Given the description of an element on the screen output the (x, y) to click on. 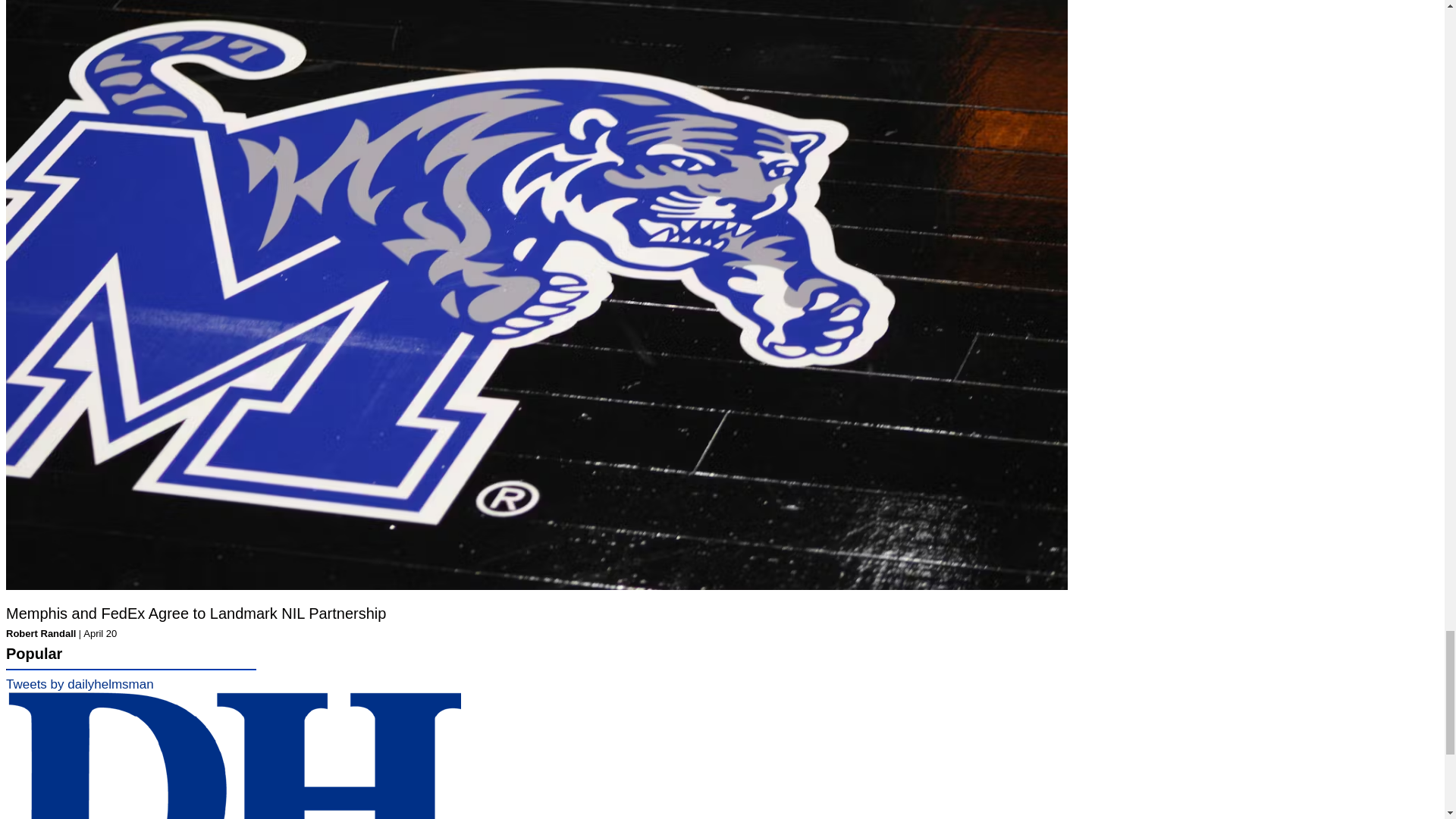
Robert Randall (40, 633)
Memphis and FedEx Agree to Landmark NIL Partnership (195, 613)
Tweets by dailyhelmsman (79, 684)
Memphis and FedEx Agree to Landmark NIL Partnership (195, 613)
